Given the description of an element on the screen output the (x, y) to click on. 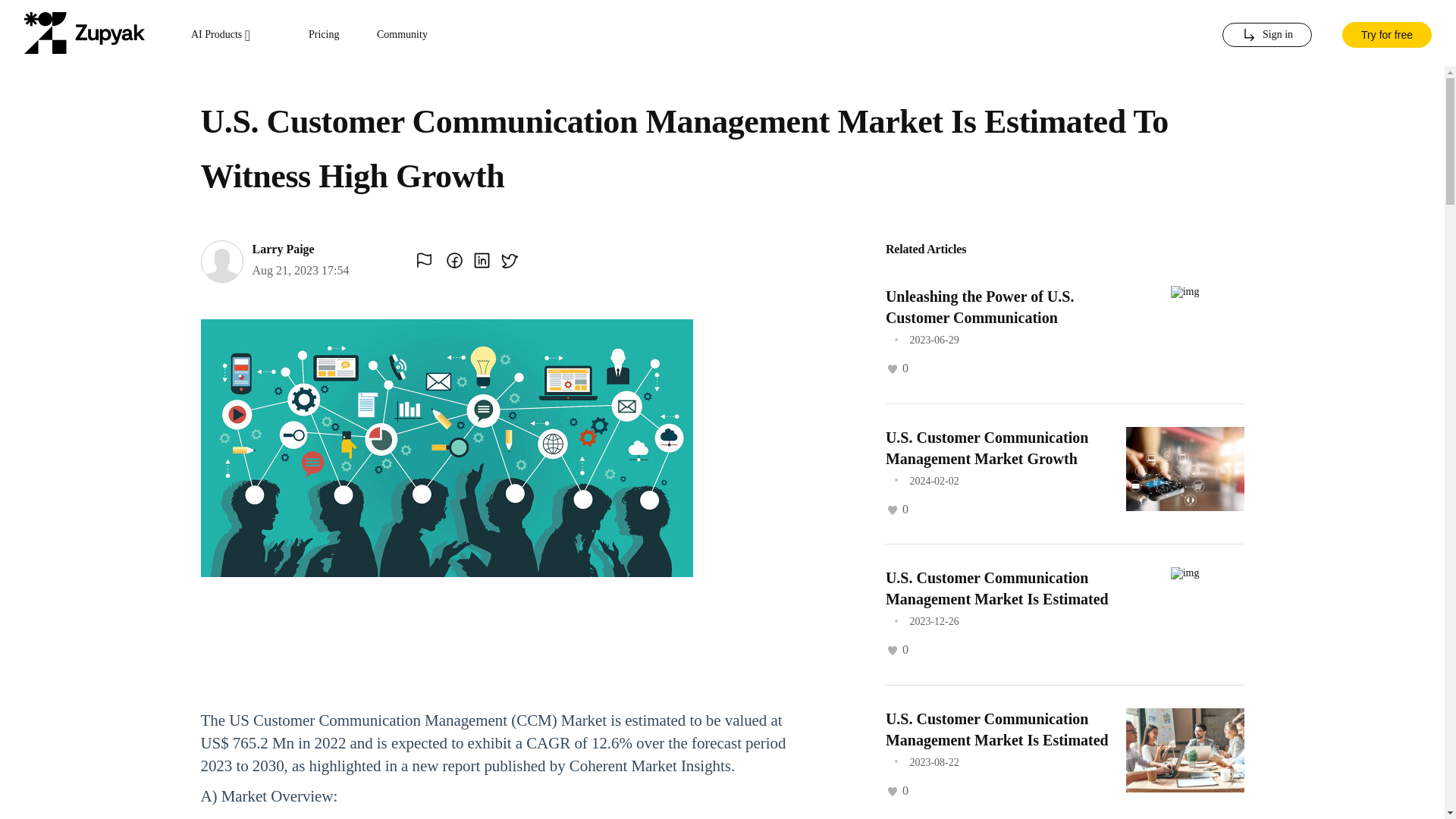
Try for free (1386, 33)
 Sign in (1267, 34)
Community (402, 34)
Pricing (323, 34)
